Given the description of an element on the screen output the (x, y) to click on. 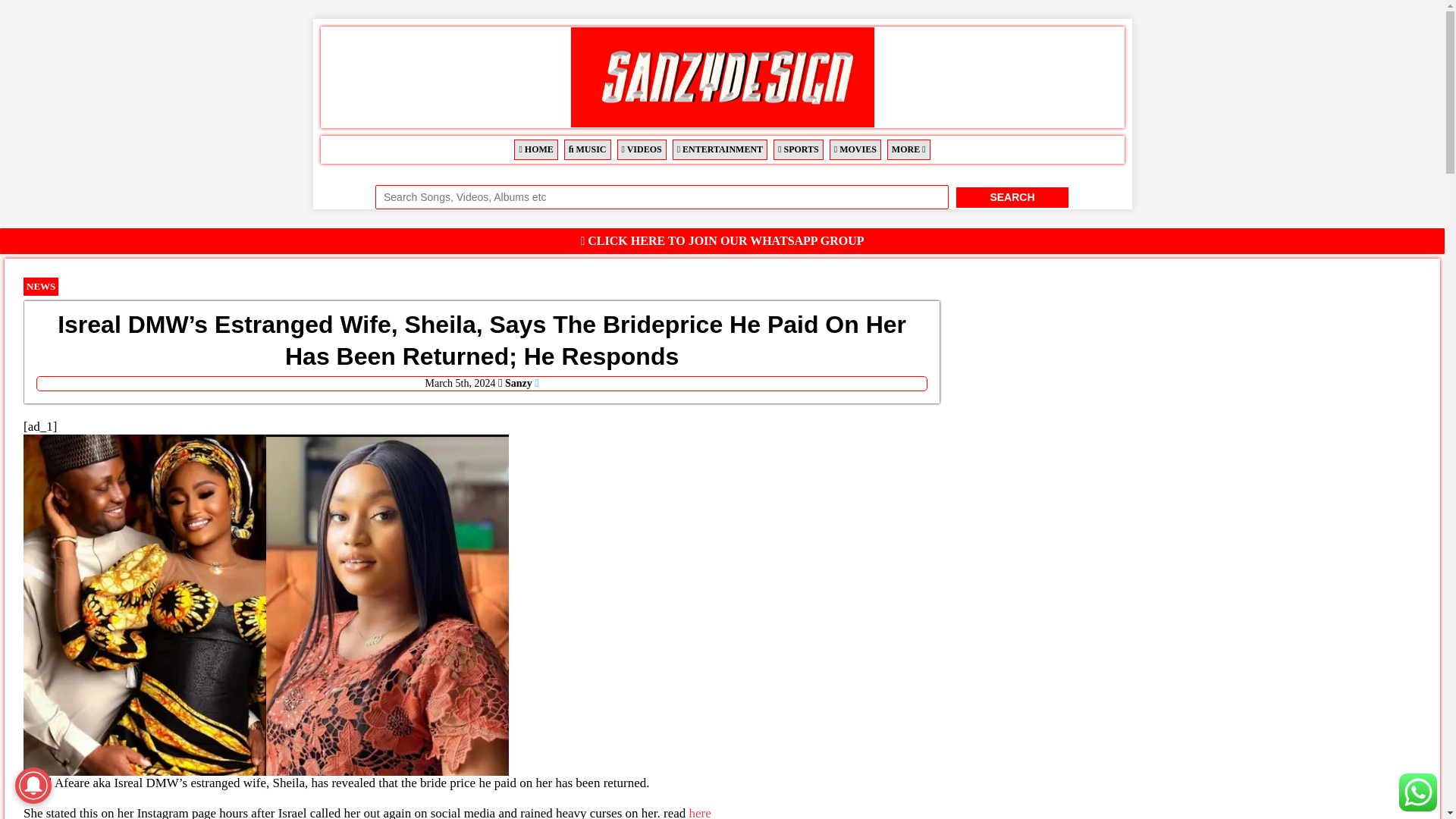
SPORTS (797, 149)
here (699, 812)
Search (1011, 197)
Posts by Sanzy (518, 383)
Promote Your Song Now! (1418, 792)
ENTERTAINMENT (719, 149)
HOME (535, 149)
Sanzy (518, 383)
VIDEOS (641, 149)
NEWS (40, 285)
MUSIC (588, 149)
CLICK HERE TO JOIN OUR WHATSAPP GROUP (724, 240)
MORE (908, 149)
NEWS (40, 286)
MOVIES (855, 149)
